Given the description of an element on the screen output the (x, y) to click on. 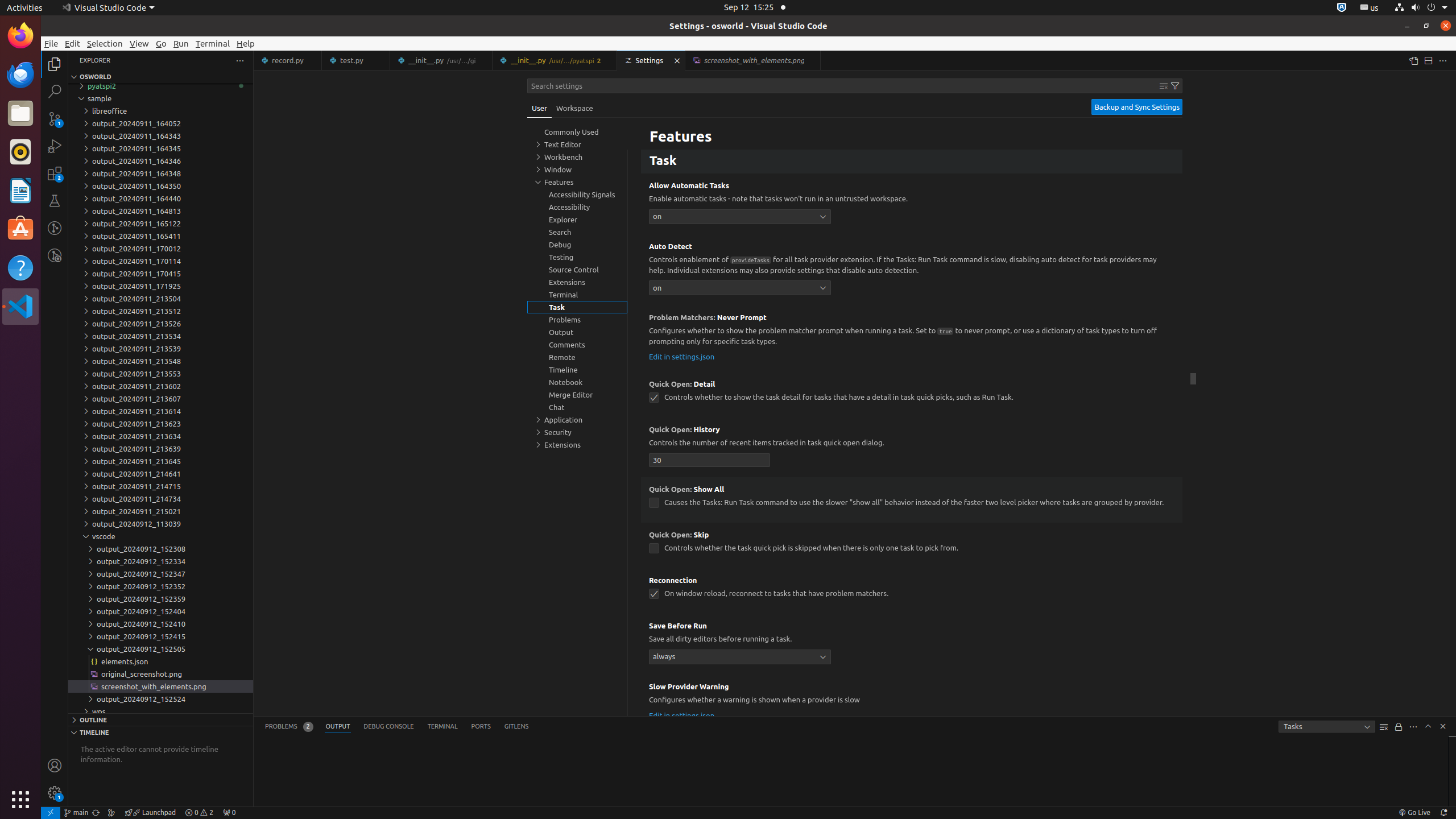
output_20240911_170114 Element type: tree-item (160, 260)
pyatspi2 Element type: tree-item (160, 85)
Problems, group Element type: tree-item (577, 319)
rocket gitlens-unplug Launchpad, GitLens Launchpad ᴘʀᴇᴠɪᴇᴡ    &mdash;    [$(question)](command:gitlens.launchpad.indicator.action?%22info%22 "What is this?") [$(gear)](command:workbench.action.openSettings?%22gitlens.launchpad%22 "Settings")  |  [$(circle-slash) Hide](command:gitlens.launchpad.indicator.action?%22hide%22 "Hide") --- [Launchpad](command:gitlens.launchpad.indicator.action?%info%22 "Learn about Launchpad") organizes your pull requests into actionable groups to help you focus and keep your team unblocked. It's always accessible using the `GitLens: Open Launchpad` command from the Command Palette. --- [Connect an integration](command:gitlens.showLaunchpad?%7B%22source%22%3A%22launchpad-indicator%22%7D "Connect an integration") to get started. Element type: push-button (150, 812)
output_20240911_213614 Element type: tree-item (160, 410)
